Given the description of an element on the screen output the (x, y) to click on. 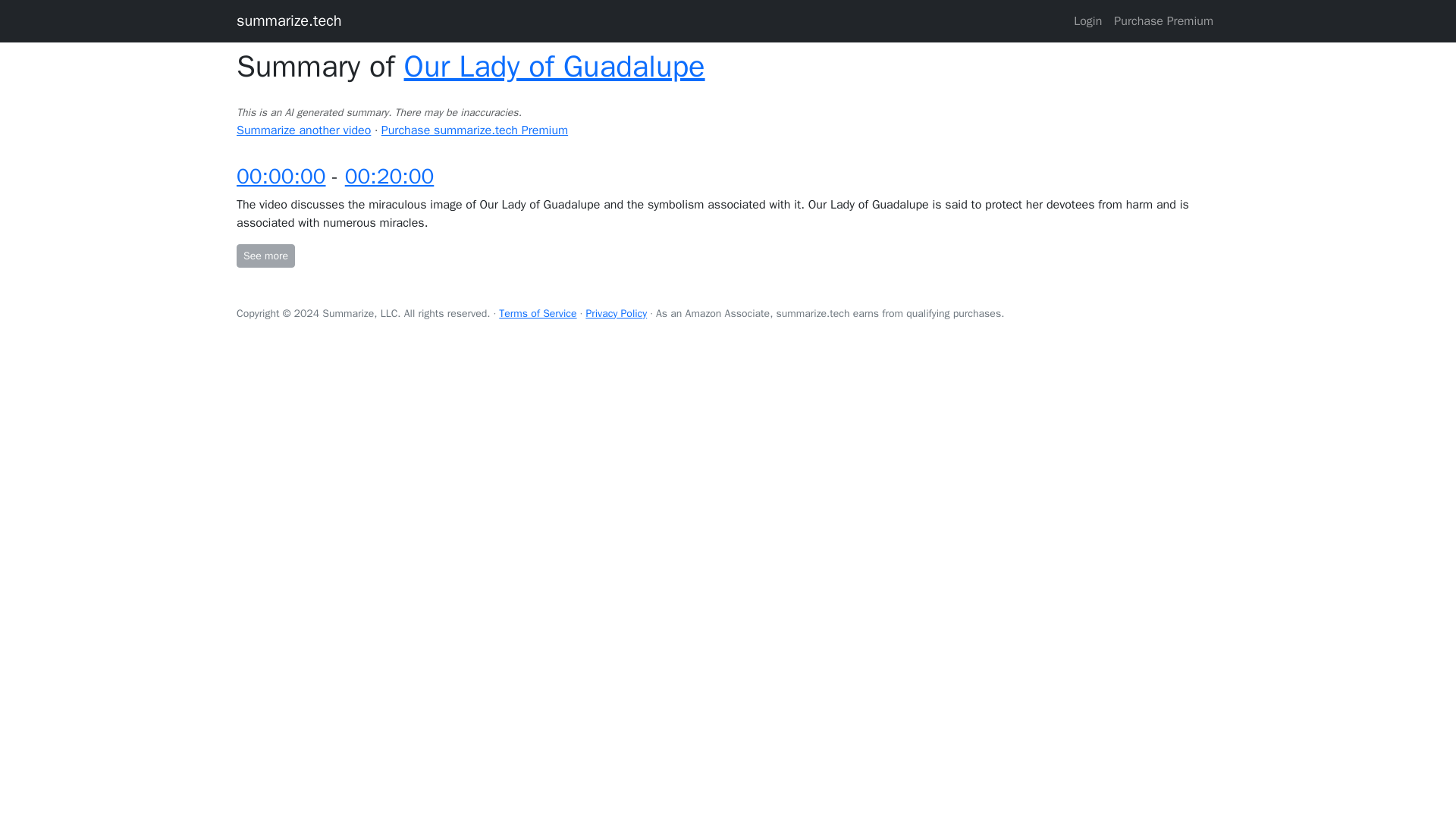
Summarize another video (303, 130)
See more (265, 255)
summarize.tech (288, 20)
Login (1087, 20)
00:00:00 (280, 175)
Our Lady of Guadalupe (554, 65)
Terms of Service (537, 313)
Purchase summarize.tech Premium (474, 130)
Privacy Policy (615, 313)
00:20:00 (389, 175)
